Given the description of an element on the screen output the (x, y) to click on. 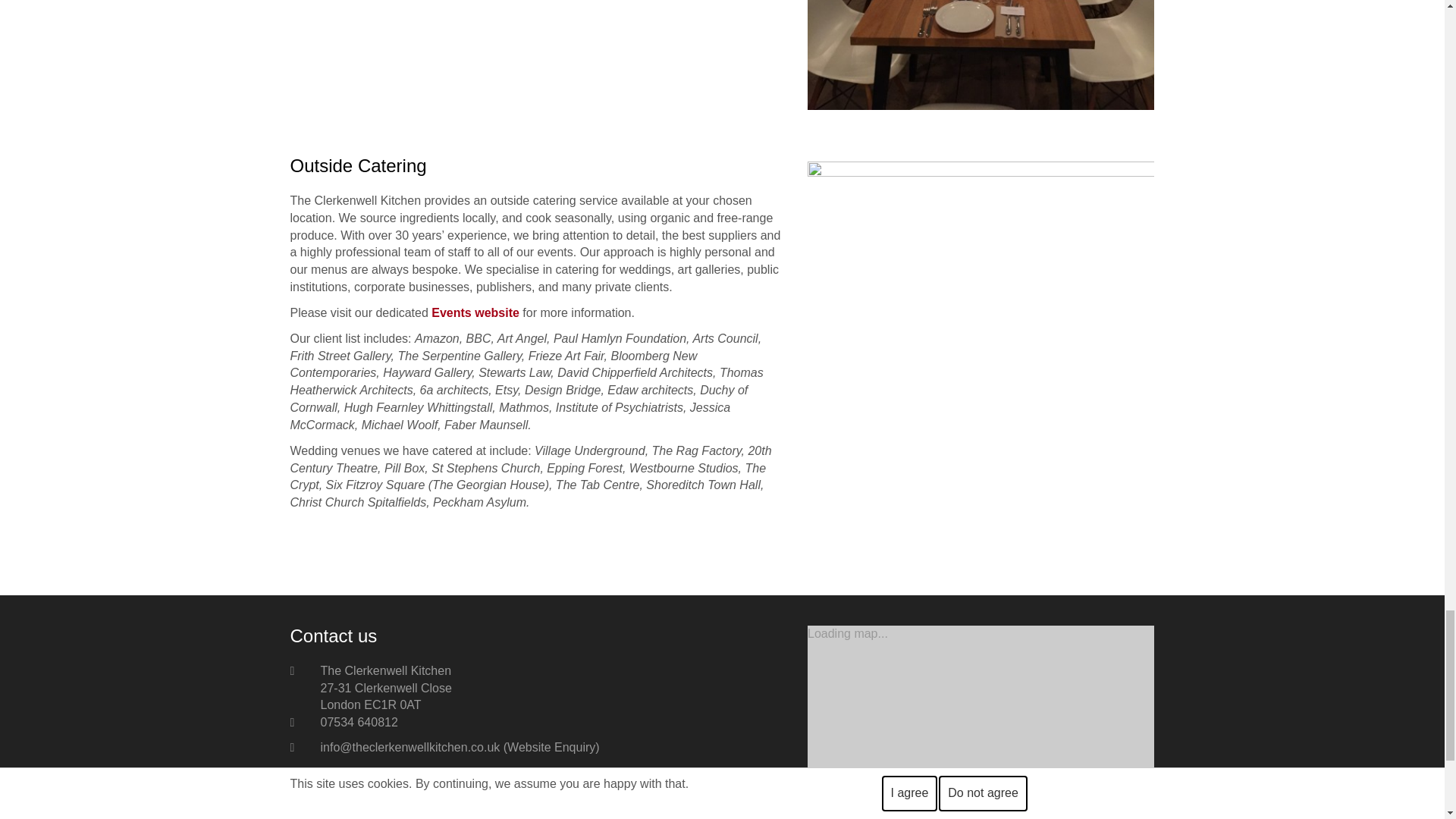
Events website (474, 312)
